Given the description of an element on the screen output the (x, y) to click on. 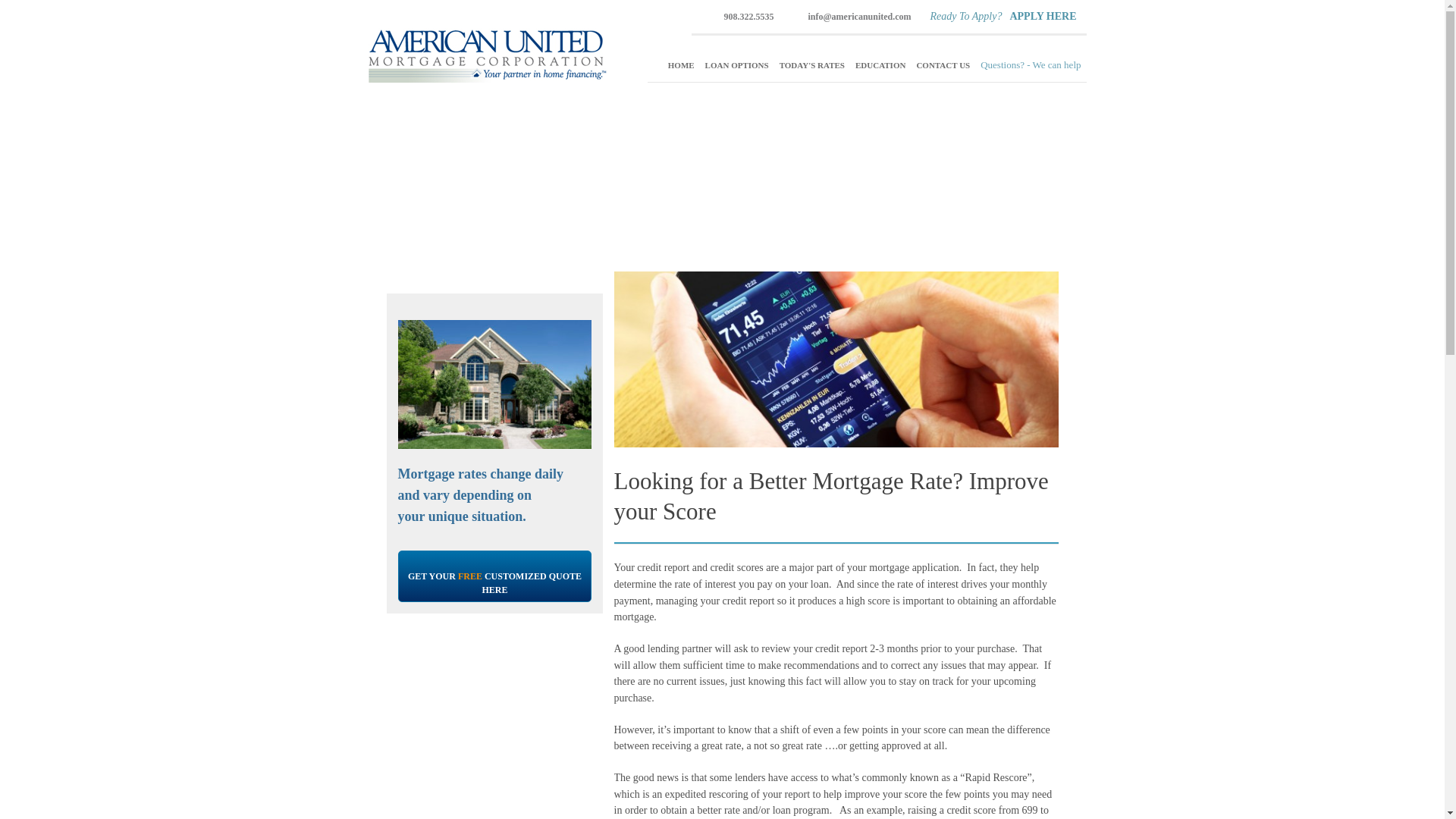
GET YOUR FREE CUSTOMIZED QUOTE HERE (494, 575)
HOME (680, 65)
CONTACT US (943, 65)
APPLY HERE (1042, 16)
LOAN OPTIONS (737, 65)
EDUCATION (879, 65)
Looking for a Better Mortgage Rate? Improve your Score (831, 495)
Ready To Apply? (966, 16)
TODAY'S RATES (812, 65)
Questions? - We can help (1030, 65)
